Given the description of an element on the screen output the (x, y) to click on. 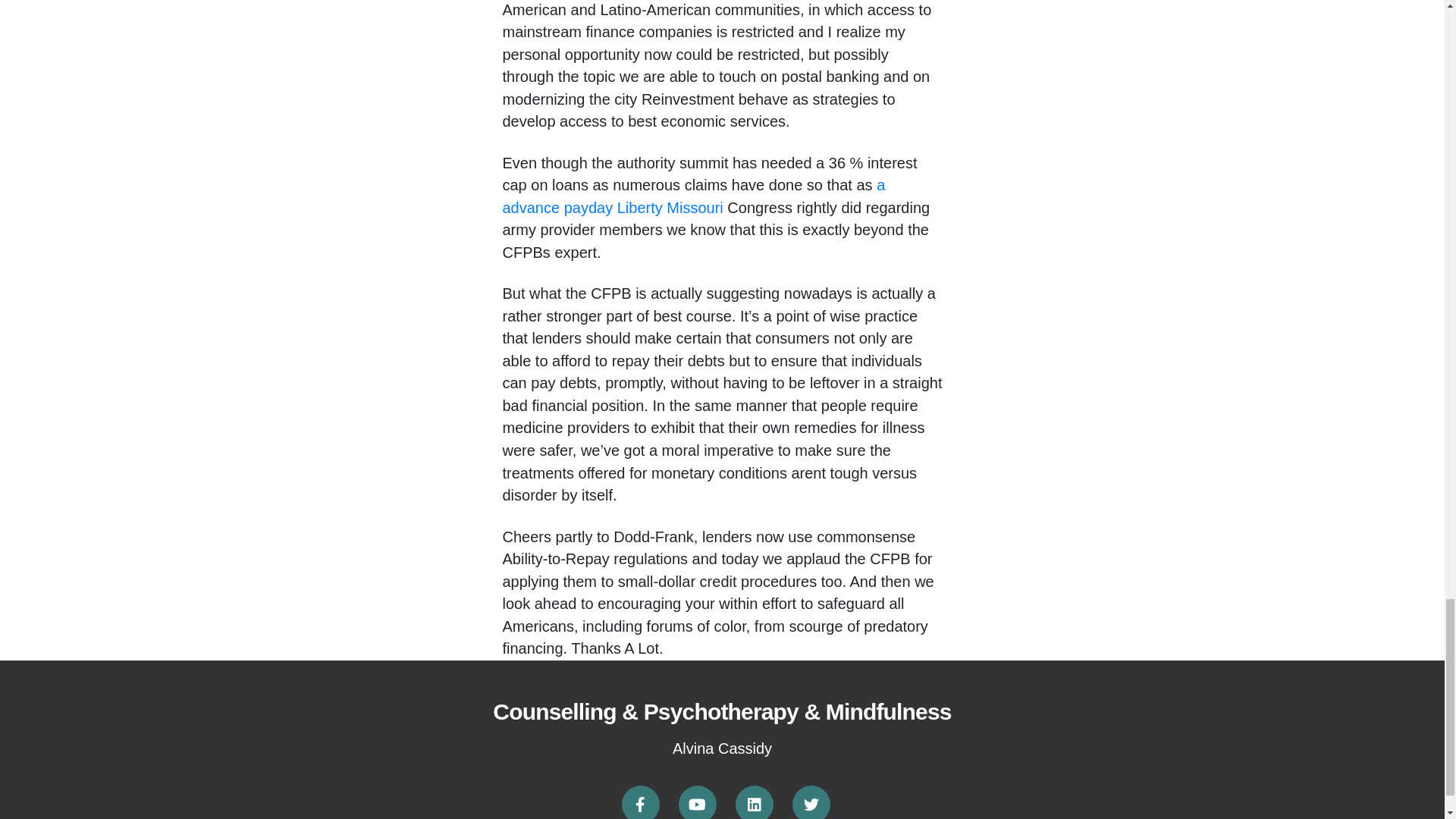
a advance payday Liberty Missouri (693, 196)
